Given the description of an element on the screen output the (x, y) to click on. 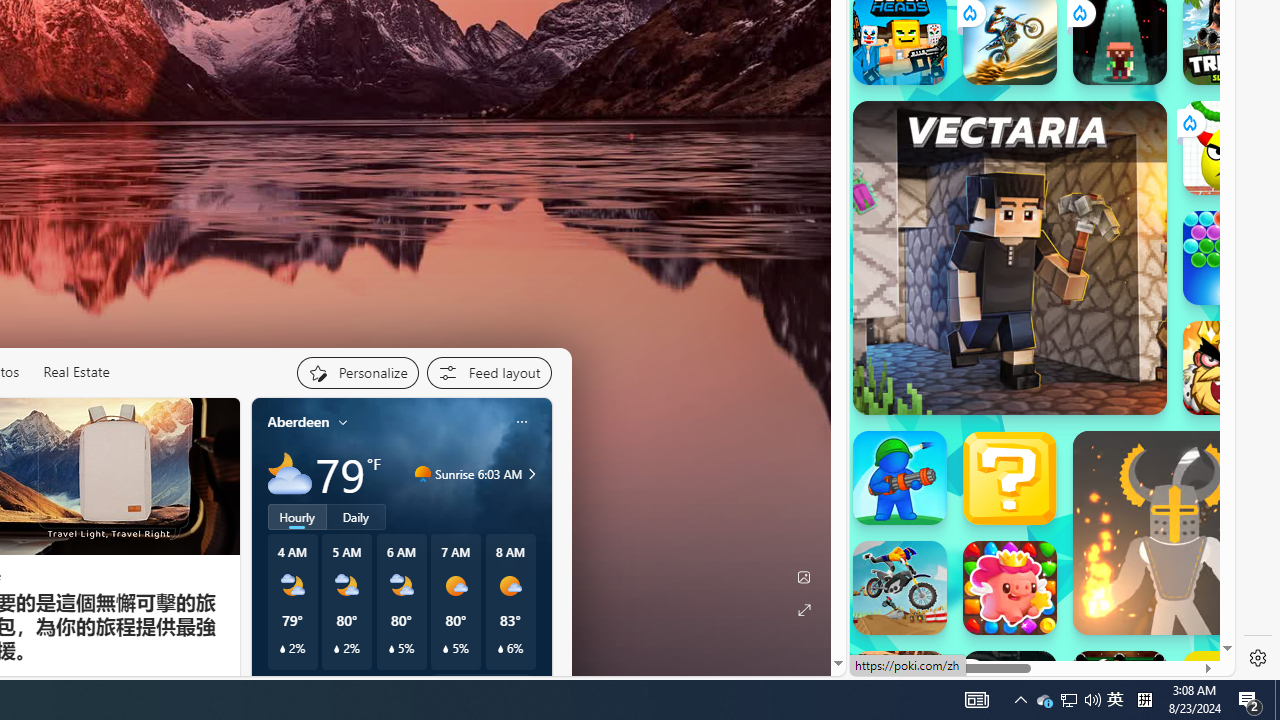
Crazy Bikes Crazy Bikes (899, 587)
Mystery Tile (1009, 477)
Daily (356, 516)
Vectaria.io (1009, 257)
Match Arena (1009, 587)
Personalize your feed" (356, 372)
Draw To Smash: Logic Puzzle (1229, 147)
Hills of Steel (925, 324)
poki.com (1092, 373)
Mostly cloudy (289, 474)
